Given the description of an element on the screen output the (x, y) to click on. 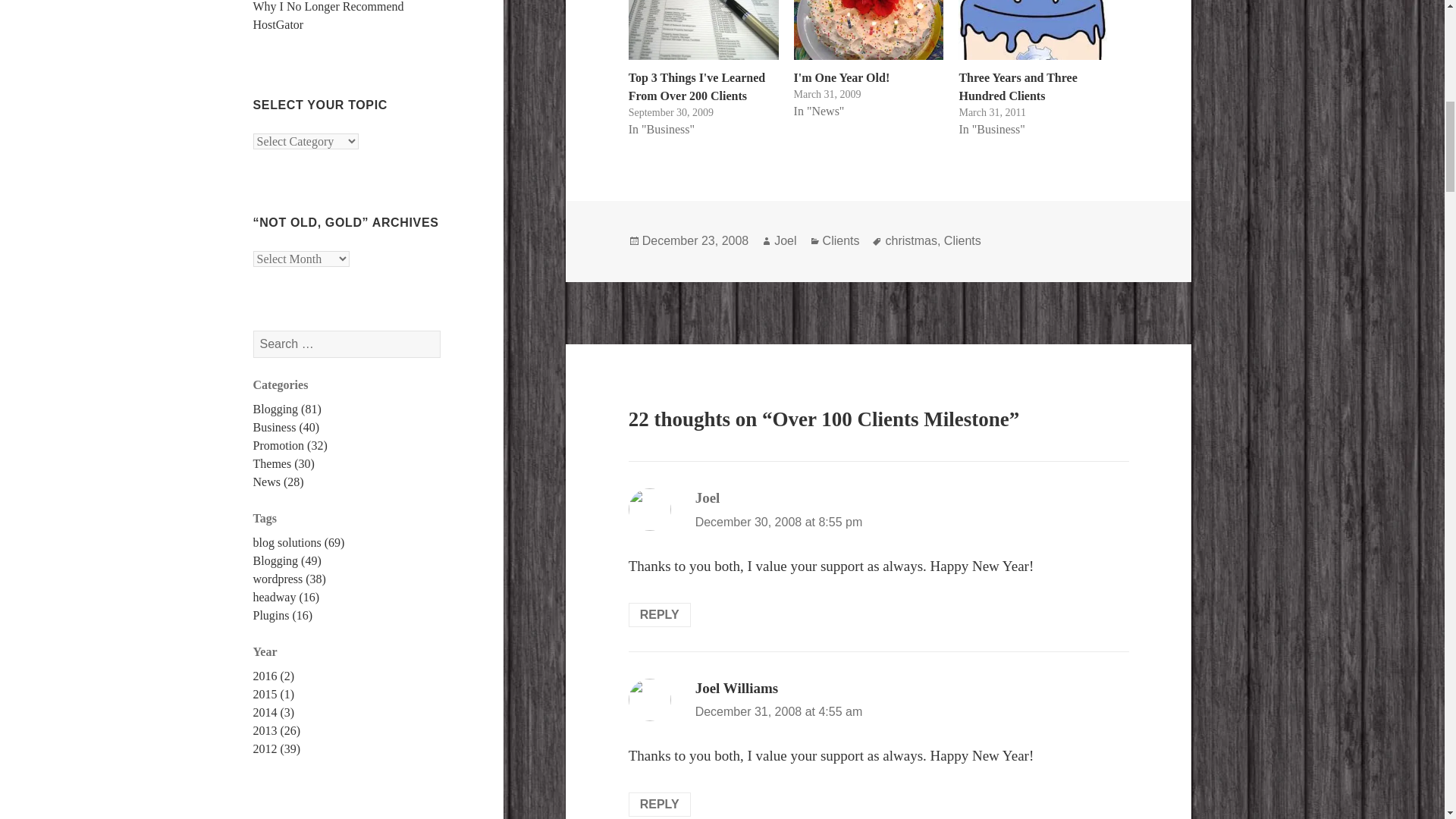
Three Years and Three Hundred Clients (1017, 86)
Three Years and Three Hundred Clients (1033, 29)
Why I No Longer Recommend HostGator (328, 15)
